Given the description of an element on the screen output the (x, y) to click on. 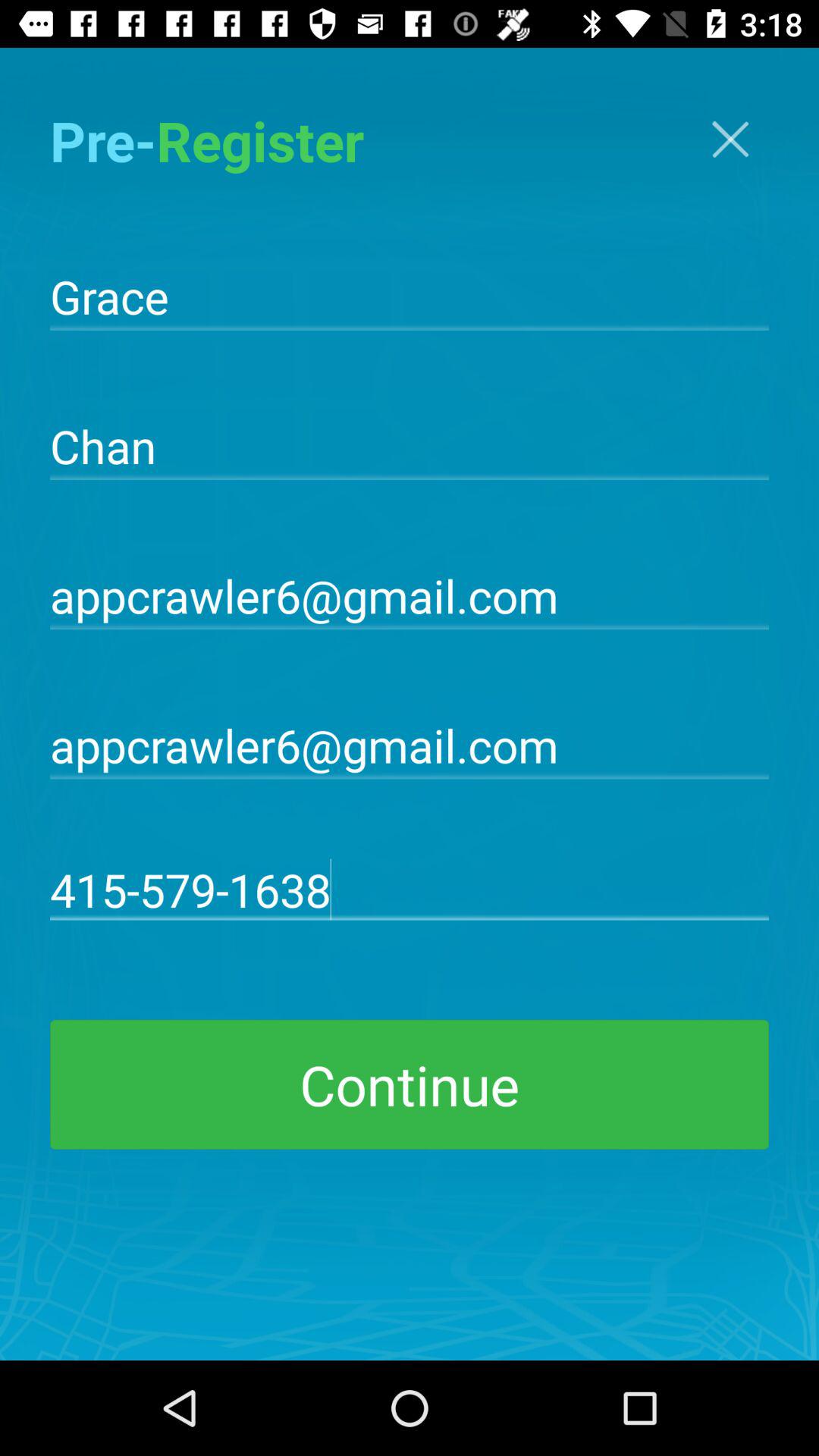
select icon above the chan (409, 295)
